Given the description of an element on the screen output the (x, y) to click on. 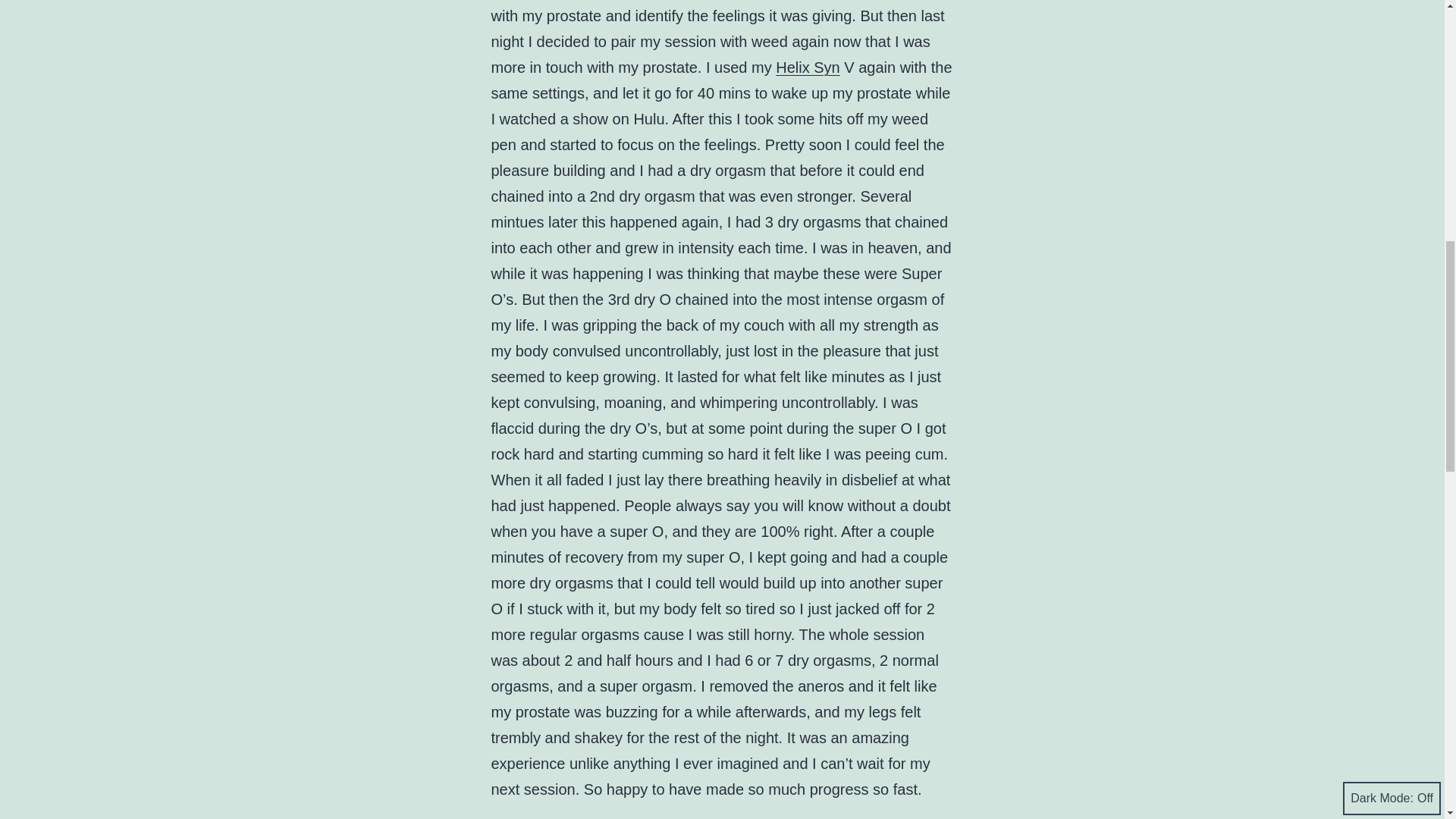
Find the best price (808, 67)
Helix Syn (808, 67)
